Given the description of an element on the screen output the (x, y) to click on. 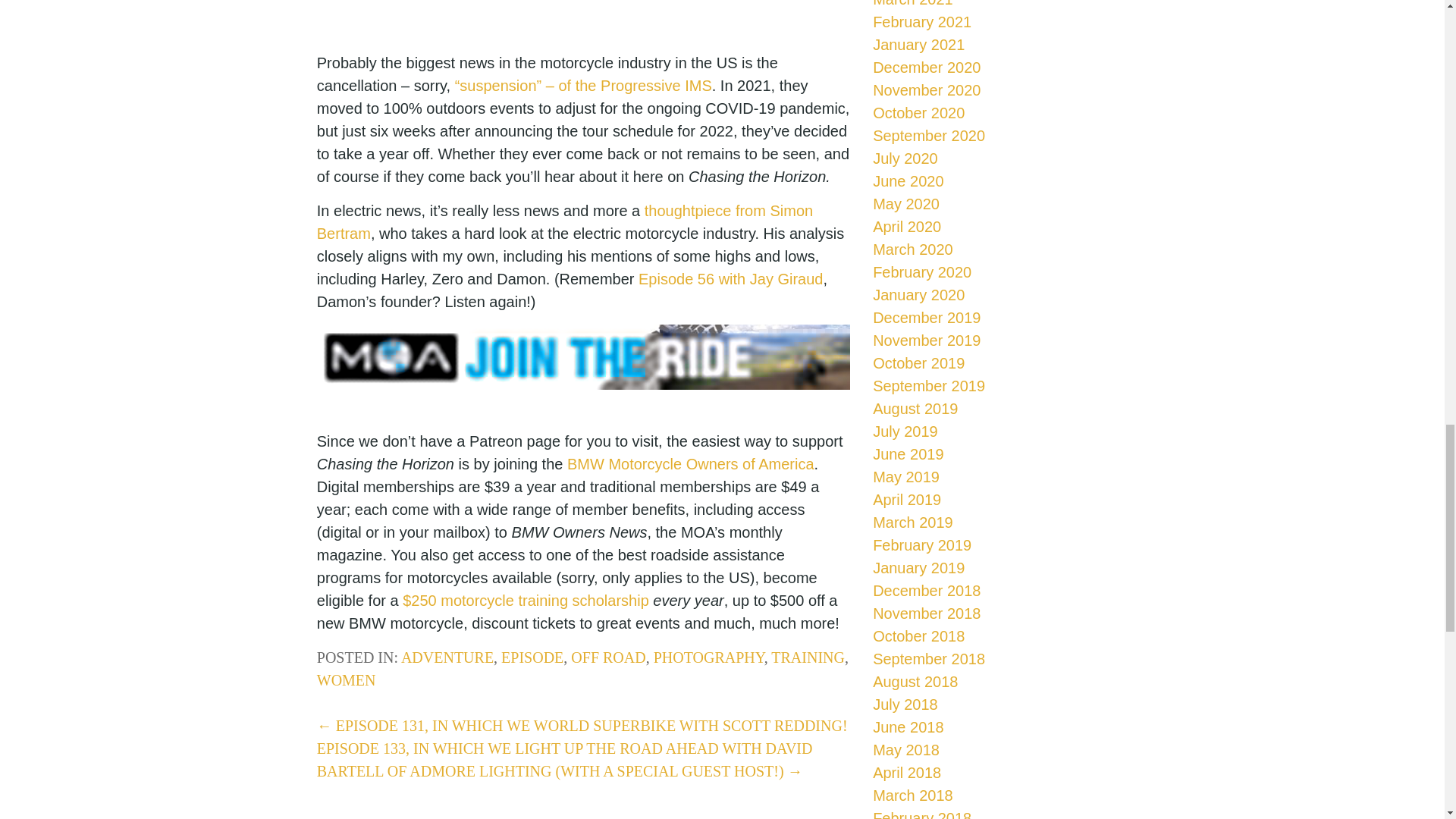
Episode 56 with Jay Giraud (730, 279)
ADVENTURE (447, 657)
BMW Motorcycle Owners of America (690, 463)
thoughtpiece from Simon Bertram (564, 221)
OFF ROAD (607, 657)
PHOTOGRAPHY (708, 657)
WOMEN (346, 679)
EPISODE (531, 657)
TRAINING (807, 657)
